Given the description of an element on the screen output the (x, y) to click on. 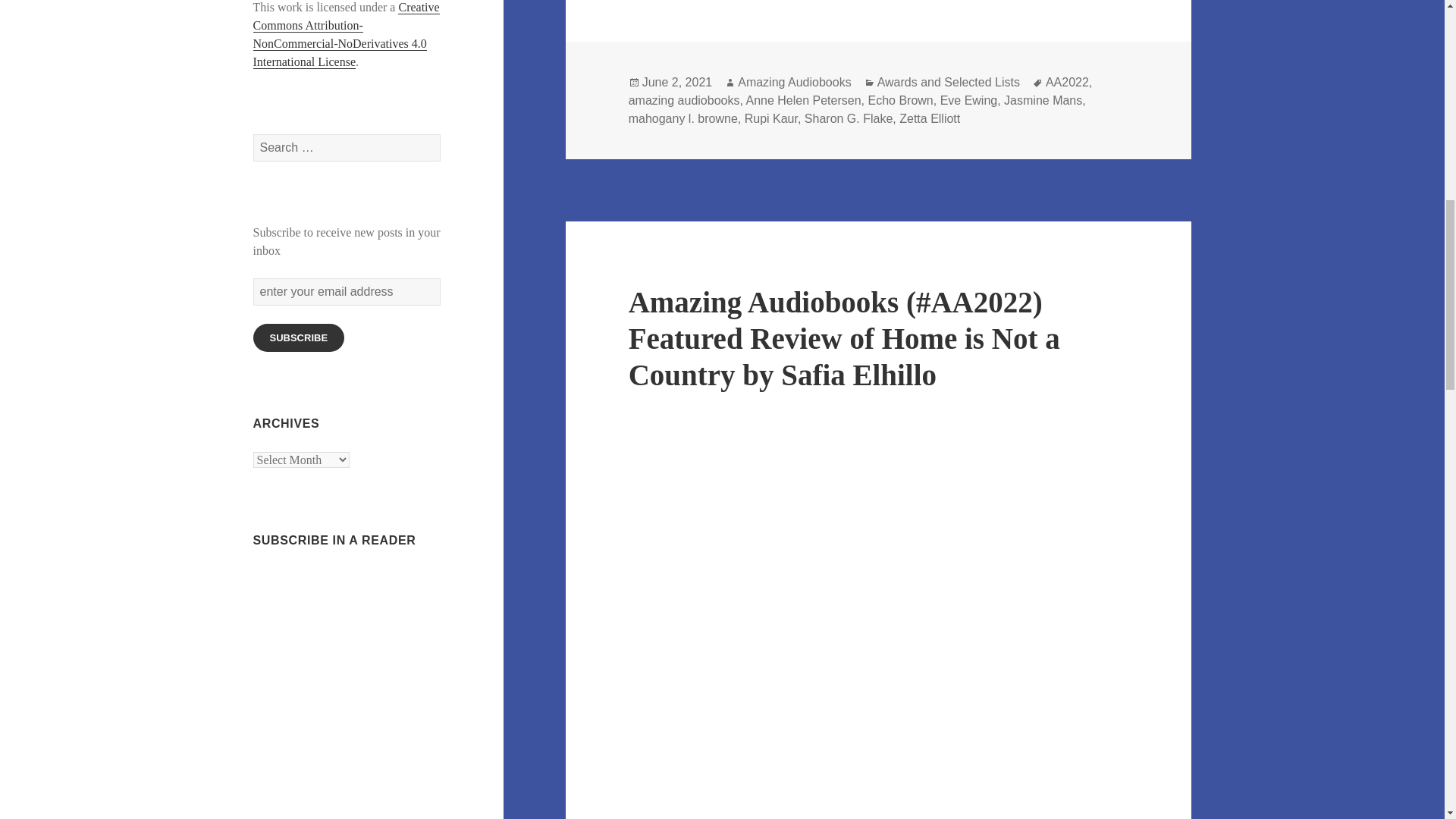
Awards and Selected Lists (948, 82)
SUBSCRIBE (299, 337)
June 2, 2021 (677, 82)
Amazing Audiobooks (794, 82)
amazing audiobooks (683, 100)
AA2022 (1067, 82)
